Given the description of an element on the screen output the (x, y) to click on. 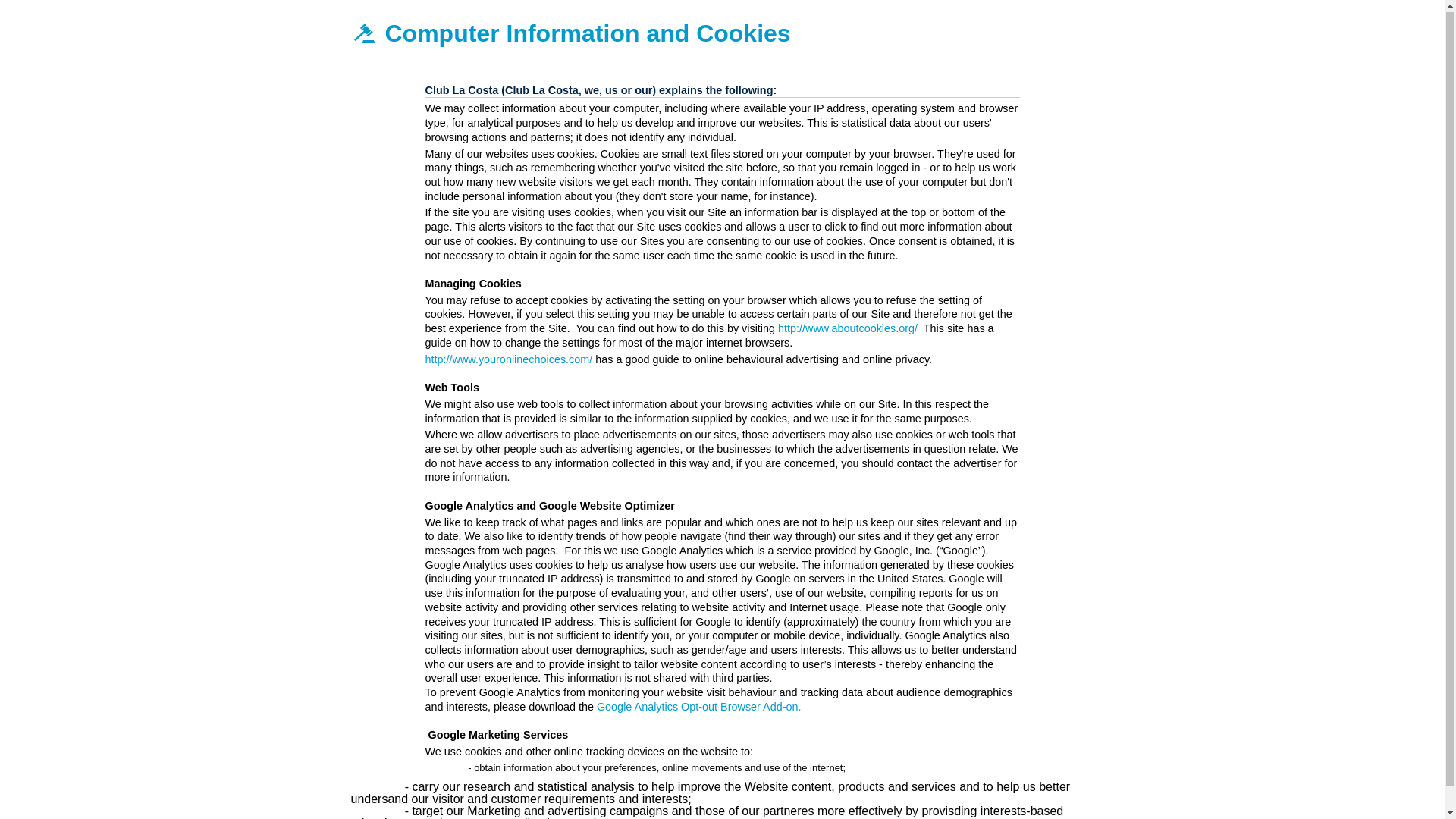
Google Analytics Opt-out Browser Add-on. (699, 706)
